Given the description of an element on the screen output the (x, y) to click on. 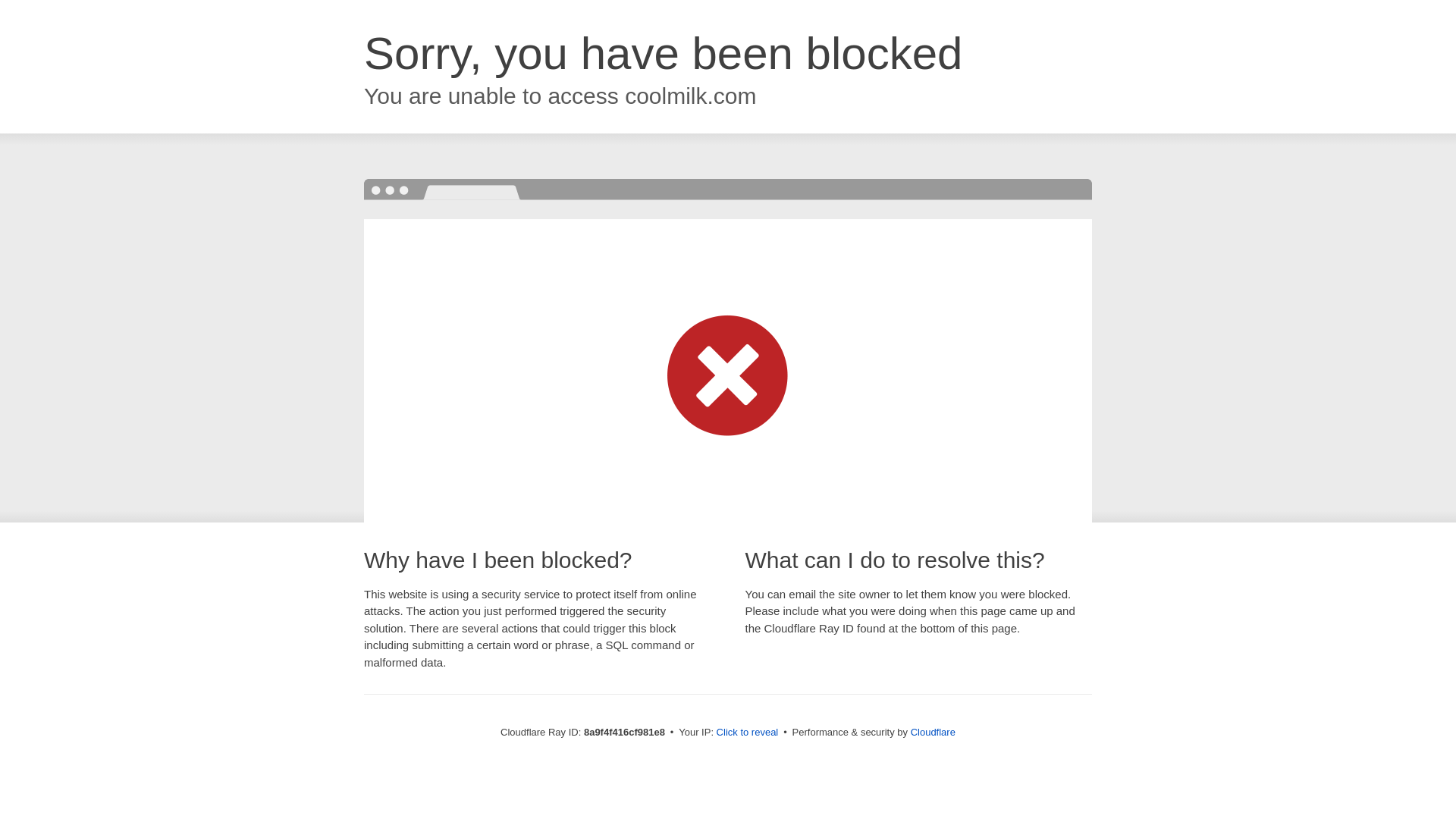
Click to reveal (747, 732)
Cloudflare (933, 731)
